Given the description of an element on the screen output the (x, y) to click on. 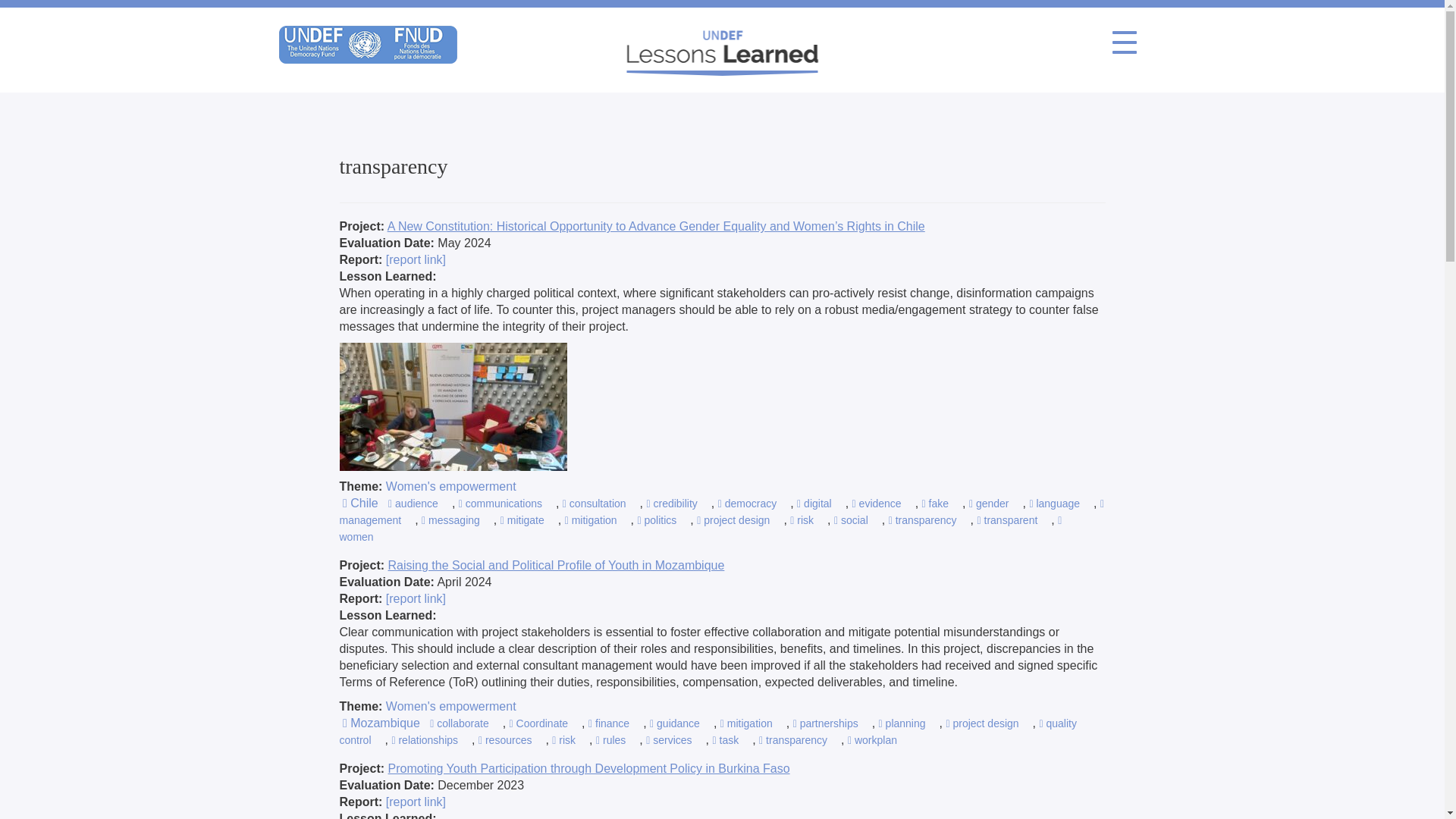
finance (608, 723)
communications (499, 503)
Mozambique (381, 722)
credibility (671, 503)
language (1054, 503)
gender (989, 503)
messaging (451, 520)
democracy (746, 503)
Women's empowerment (450, 486)
